Given the description of an element on the screen output the (x, y) to click on. 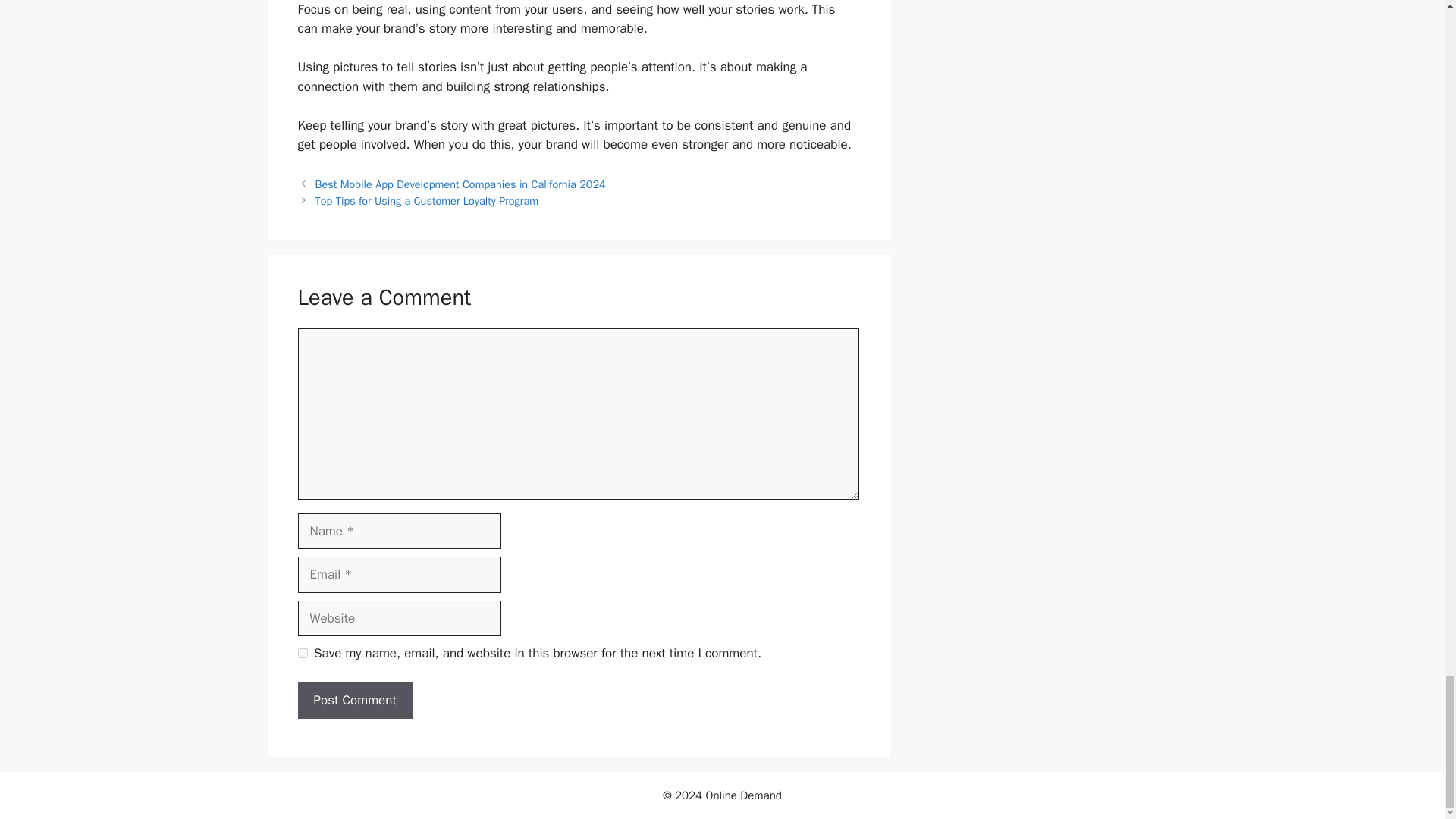
Post Comment (354, 700)
Post Comment (354, 700)
Top Tips for Using a Customer Loyalty Program (426, 201)
yes (302, 653)
Best Mobile App Development Companies in California 2024 (460, 183)
